Given the description of an element on the screen output the (x, y) to click on. 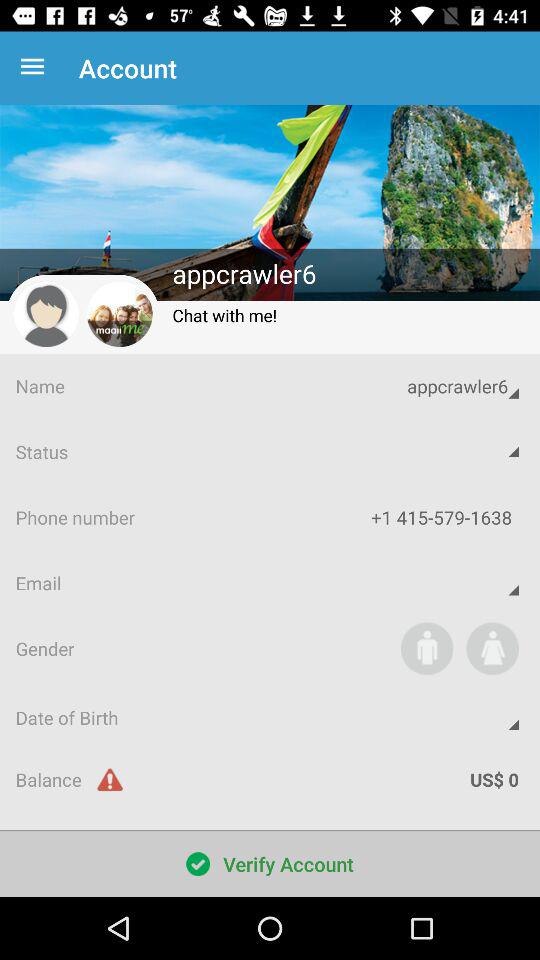
select male (426, 648)
